Given the description of an element on the screen output the (x, y) to click on. 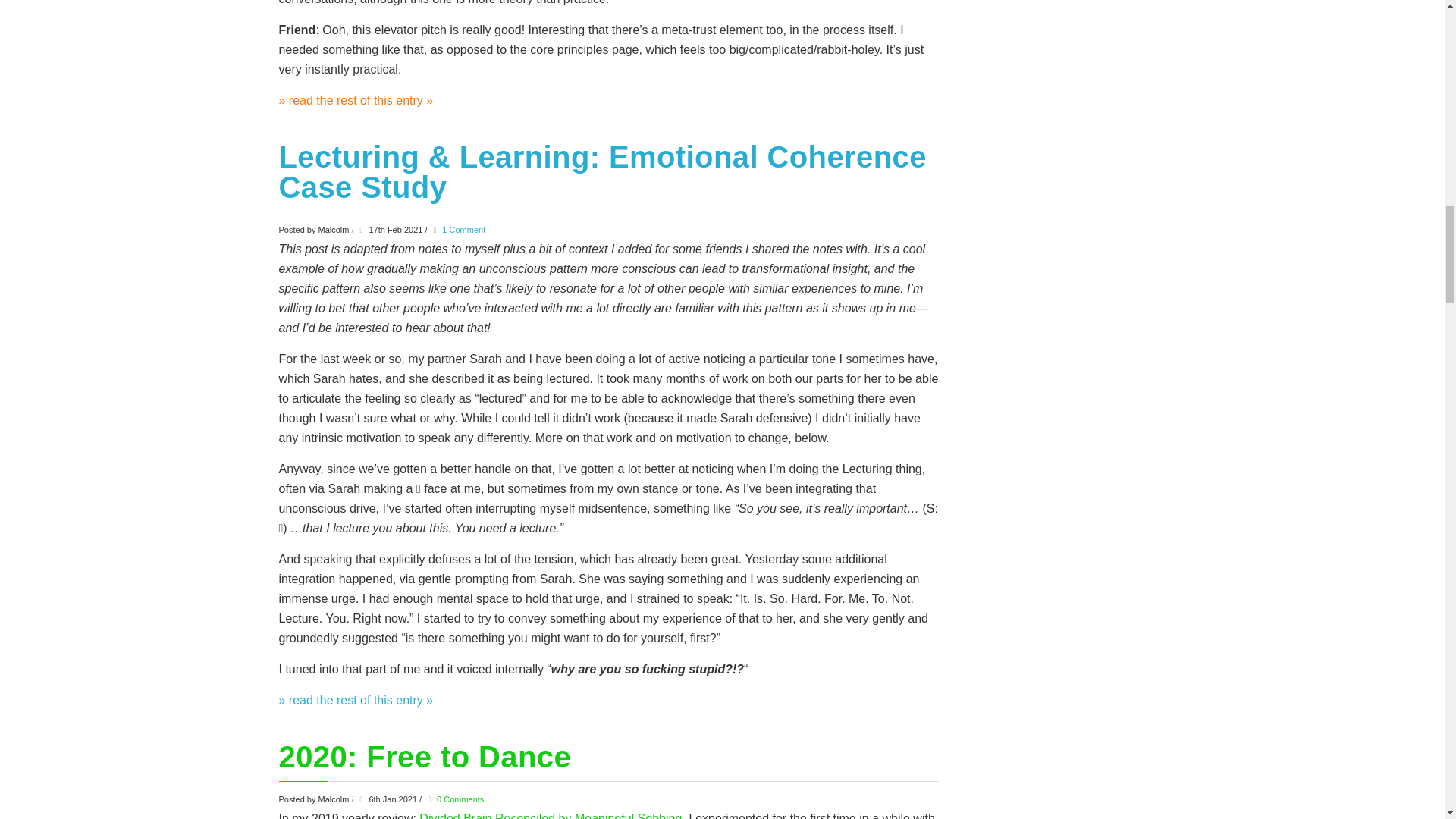
0 Comments (459, 798)
2020: Free to Dance (425, 756)
1 Comment (463, 229)
0 Comments (459, 798)
Divided Brain Reconciled by Meaningful Sobbing (550, 815)
1 Comment (463, 229)
